Given the description of an element on the screen output the (x, y) to click on. 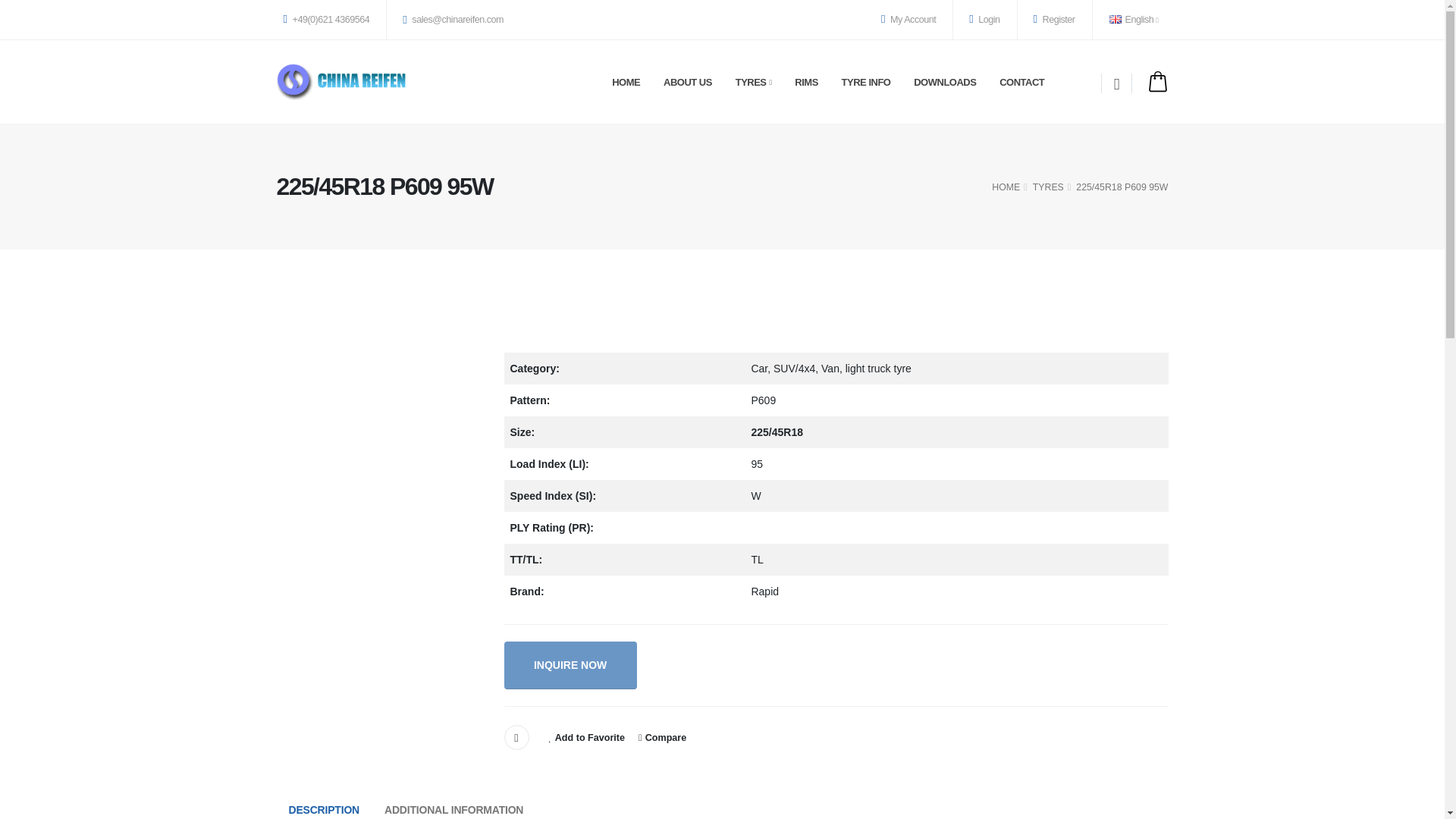
TYRES (1048, 186)
HOME (1005, 186)
Login (984, 19)
Compare (662, 737)
Add to Favorite (586, 737)
English (1135, 19)
ADDITIONAL INFORMATION (453, 806)
Share By Email (515, 737)
My Account (909, 19)
Add to Favorite (586, 737)
